Given the description of an element on the screen output the (x, y) to click on. 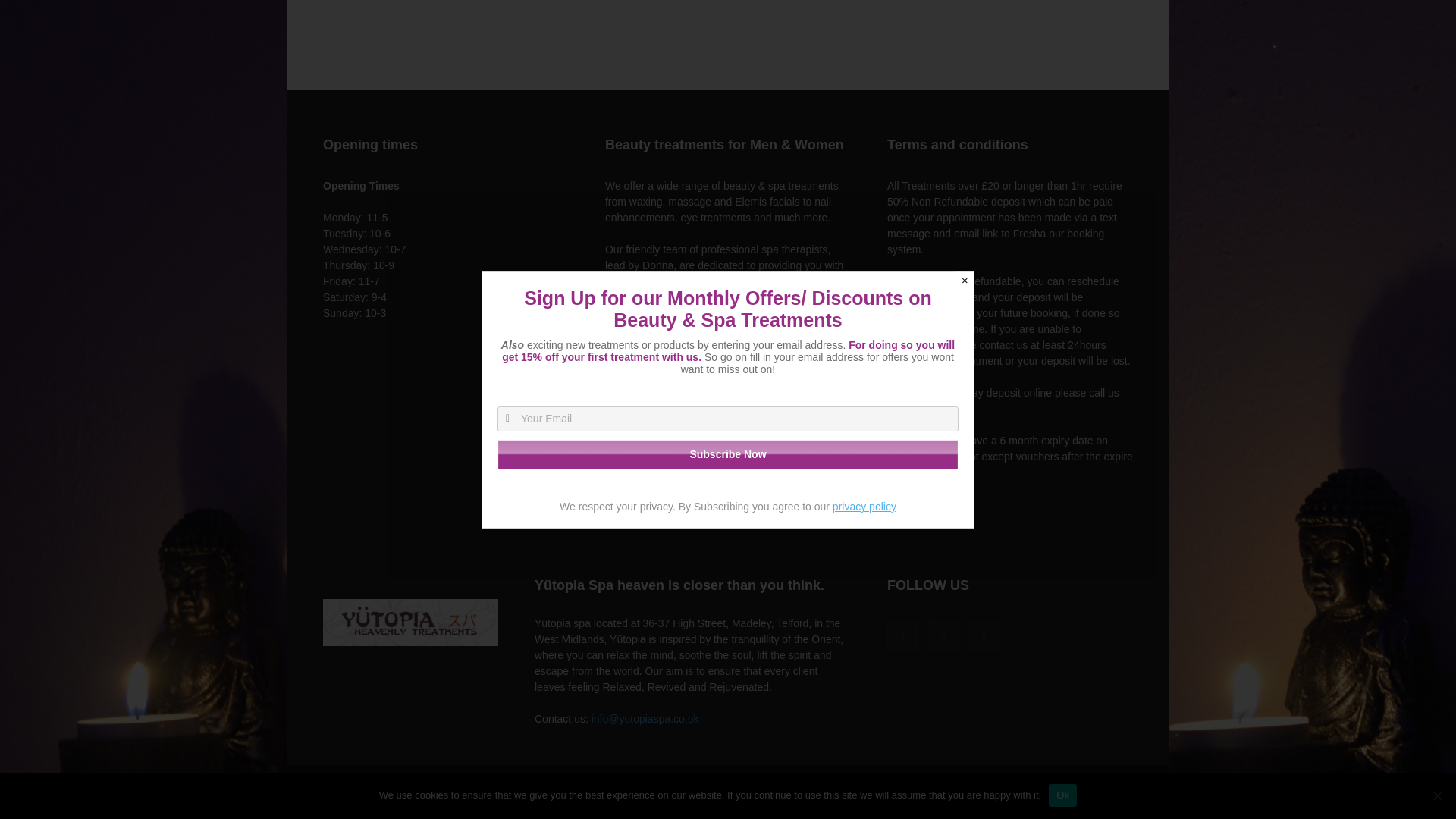
No (1436, 31)
